Given the description of an element on the screen output the (x, y) to click on. 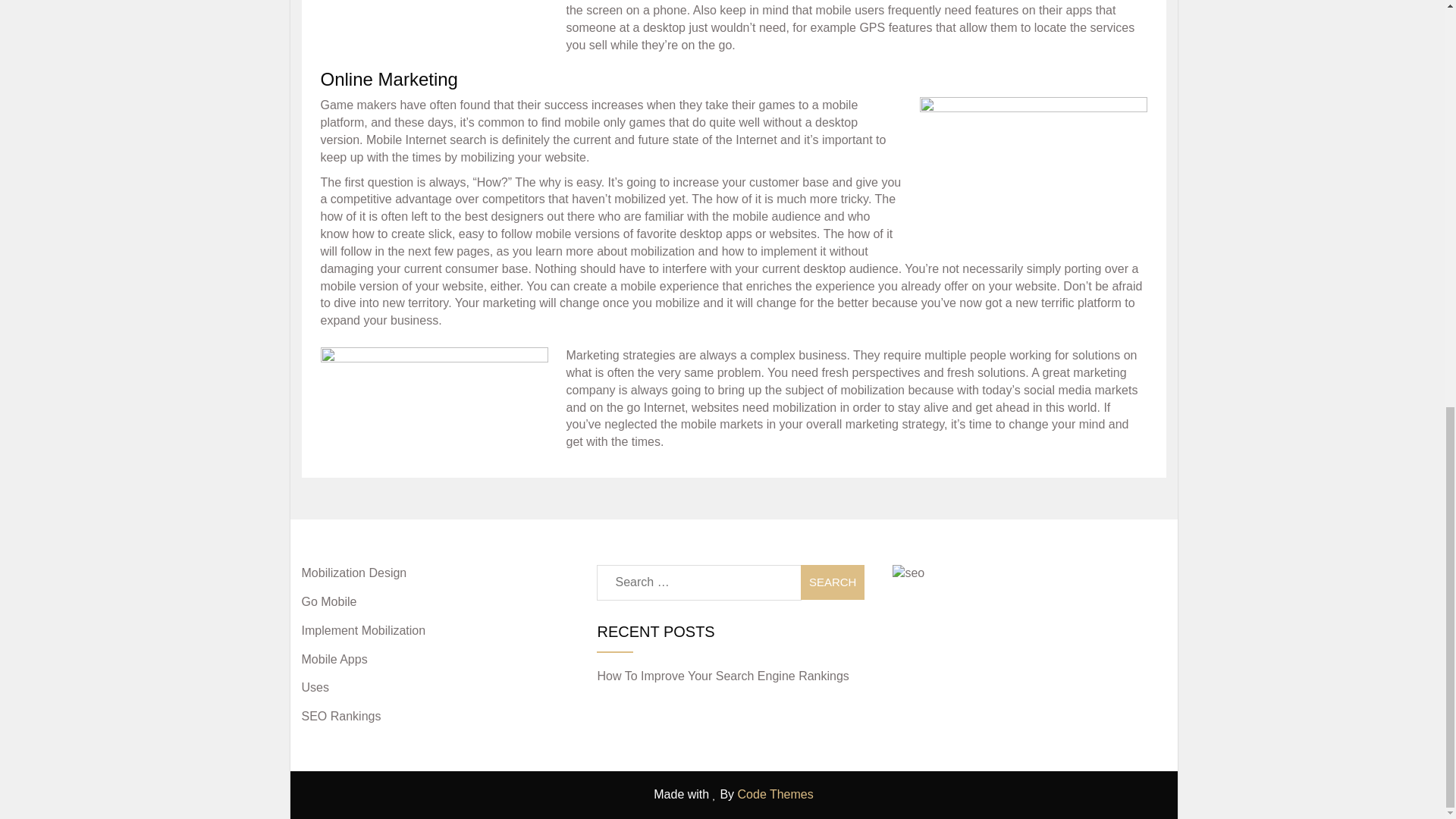
Mobilization Design (354, 572)
Search (832, 582)
Search (832, 582)
How To Improve Your Search Engine Rankings (722, 675)
SEO Rankings (341, 716)
Go Mobile (328, 601)
Uses (315, 686)
Mobile Apps (334, 658)
Implement Mobilization (363, 630)
Search (832, 582)
Code Themes (775, 793)
